Given the description of an element on the screen output the (x, y) to click on. 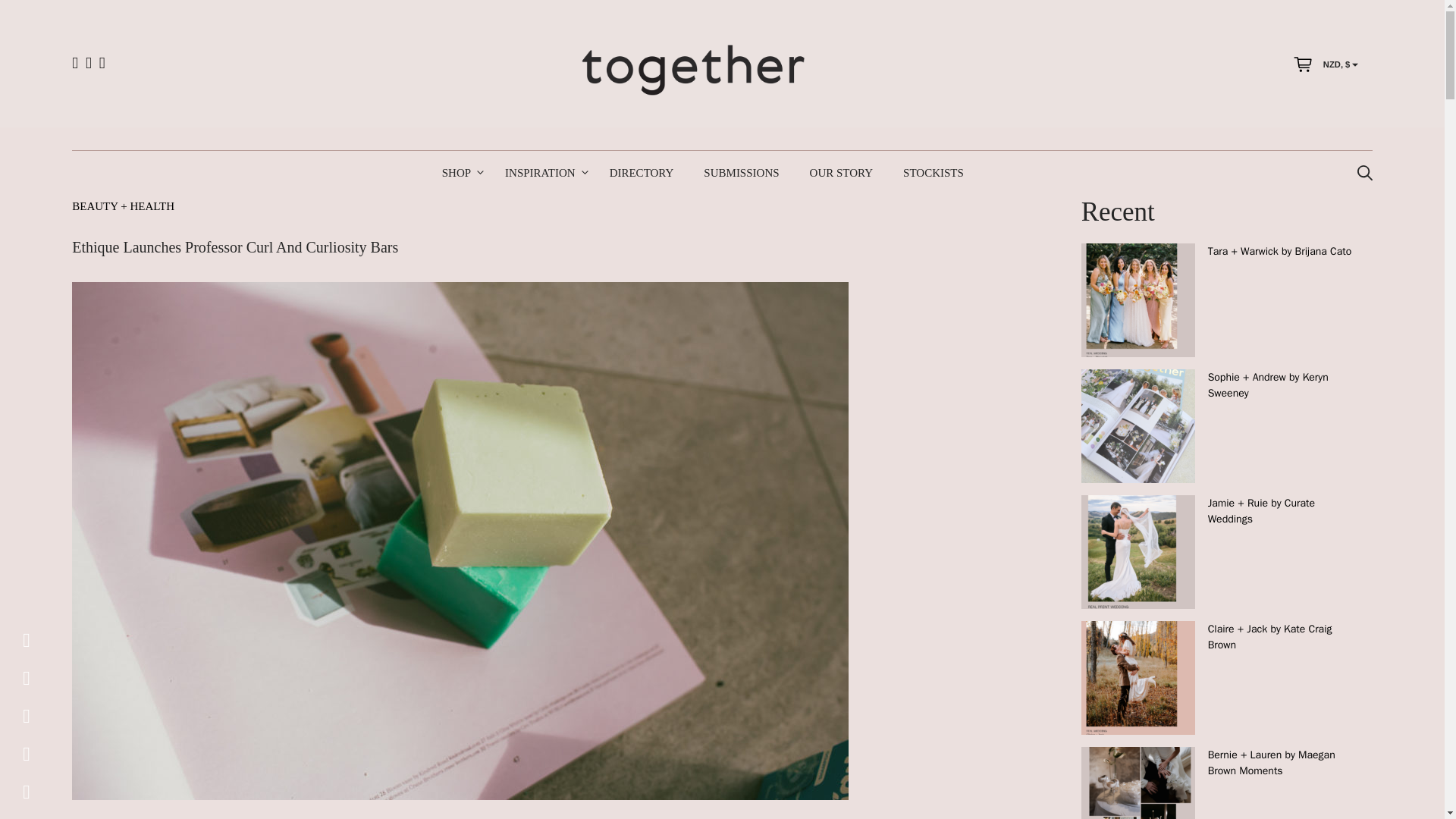
INSPIRATION (541, 173)
Together Journal (692, 70)
SUBMISSIONS (740, 172)
Together Journal (692, 68)
DIRECTORY (641, 172)
OUR STORY (841, 172)
SHOP (457, 173)
STOCKISTS (933, 172)
